Given the description of an element on the screen output the (x, y) to click on. 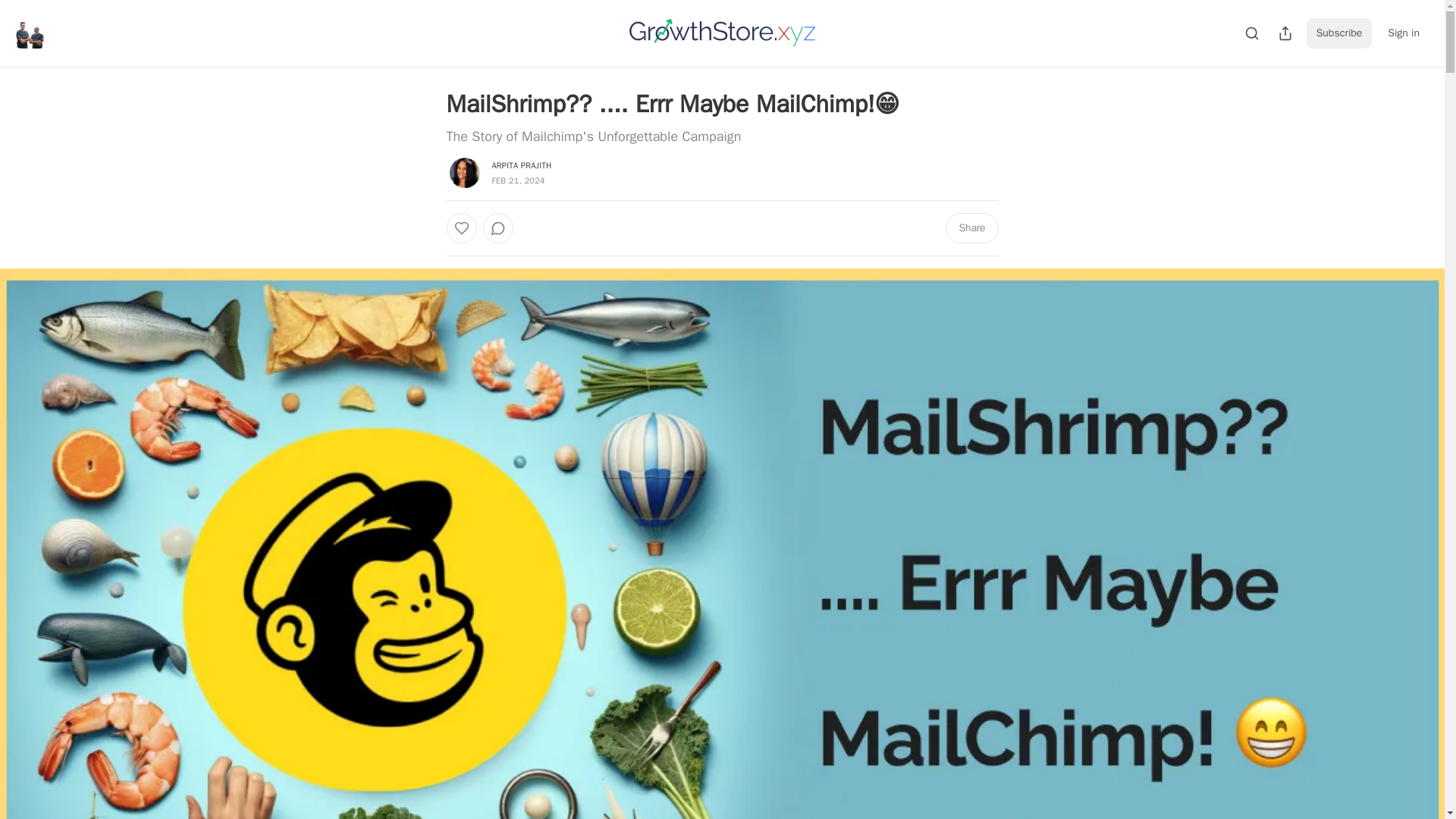
Share (970, 227)
Subscribe (1339, 33)
Sign in (1403, 33)
ARPITA PRAJITH (521, 164)
